Given the description of an element on the screen output the (x, y) to click on. 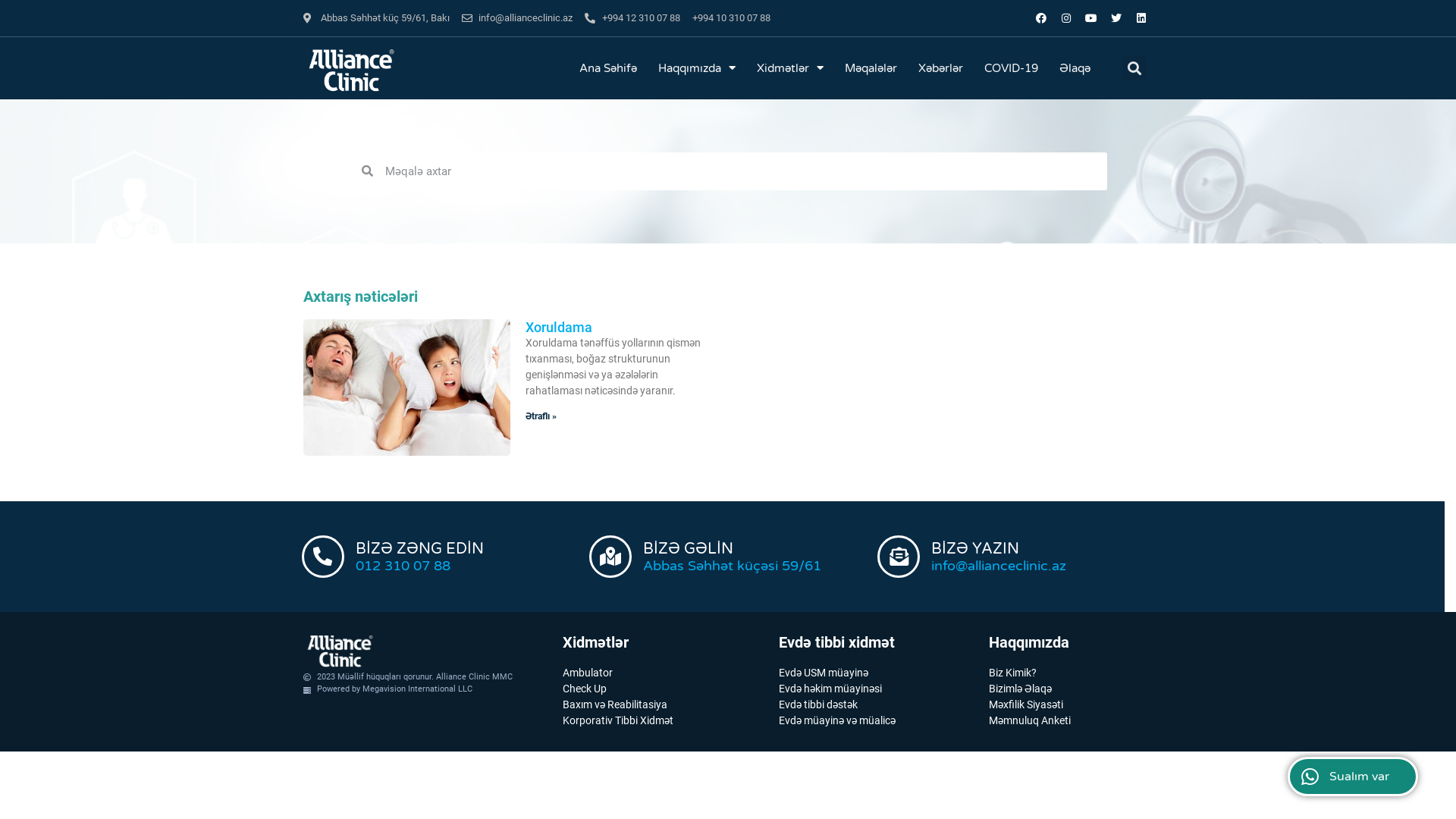
Xoruldama Element type: text (557, 327)
Powered by Megavision International LLC Element type: text (425, 689)
Check Up Element type: text (662, 688)
Ambulator Element type: text (662, 672)
Biz Kimik? Element type: text (1067, 672)
COVID-19 Element type: text (1010, 67)
